Given the description of an element on the screen output the (x, y) to click on. 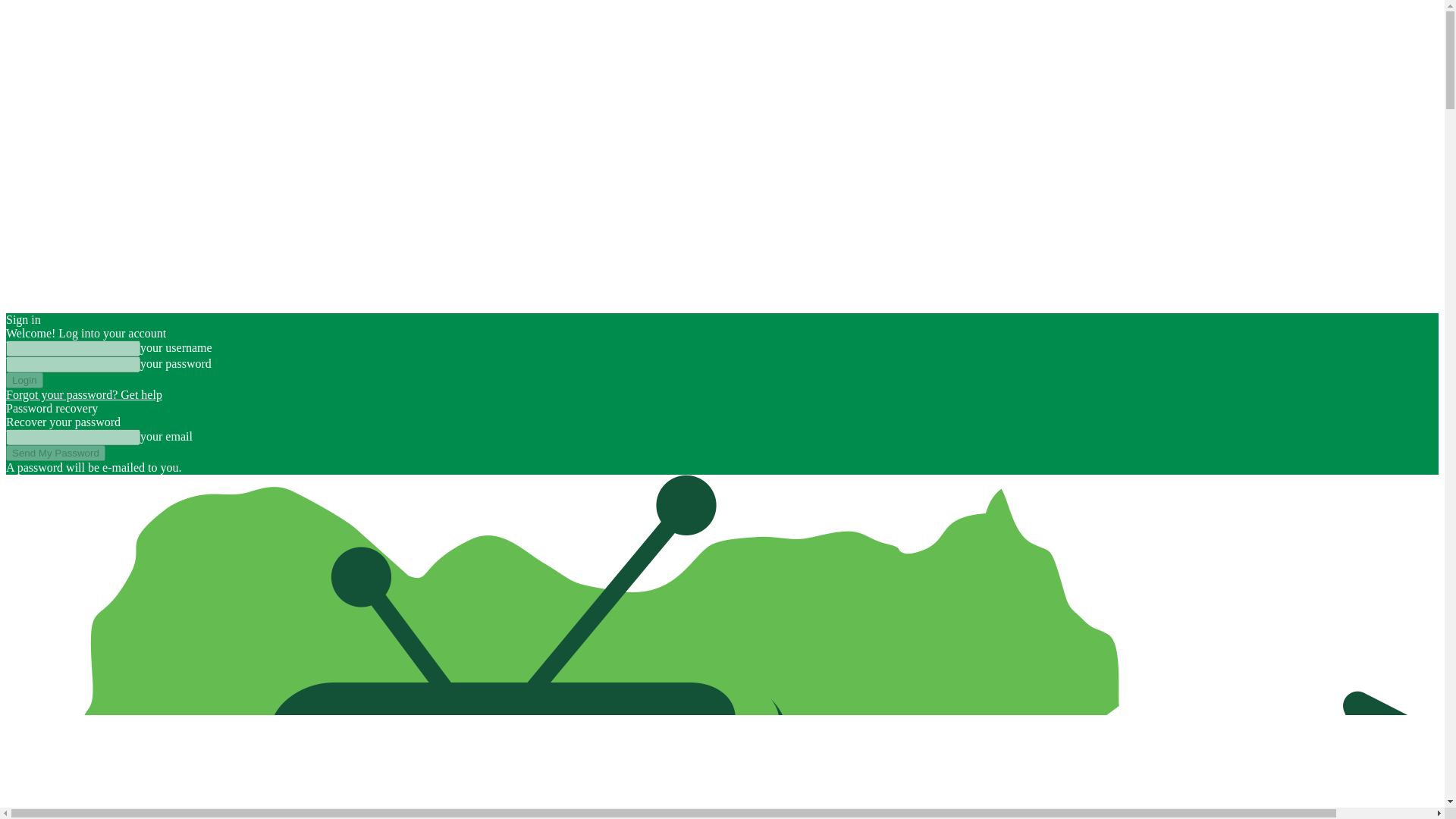
Send My Password (54, 453)
Forgot your password? Get help (83, 394)
Login (24, 380)
